Given the description of an element on the screen output the (x, y) to click on. 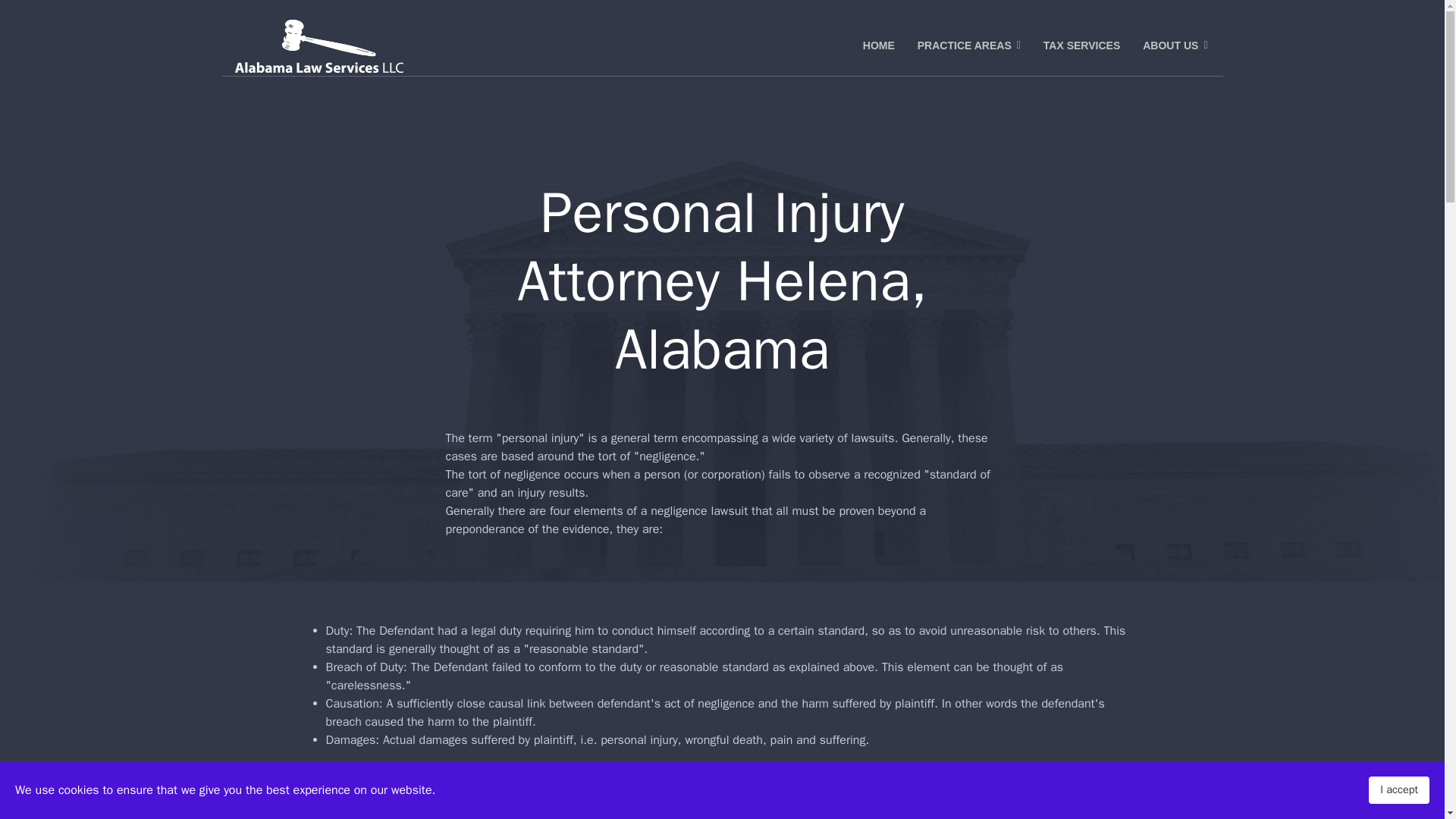
PRACTICE AREAS (968, 45)
ABOUT US (1169, 45)
HOME (878, 45)
TAX SERVICES (1081, 45)
